Given the description of an element on the screen output the (x, y) to click on. 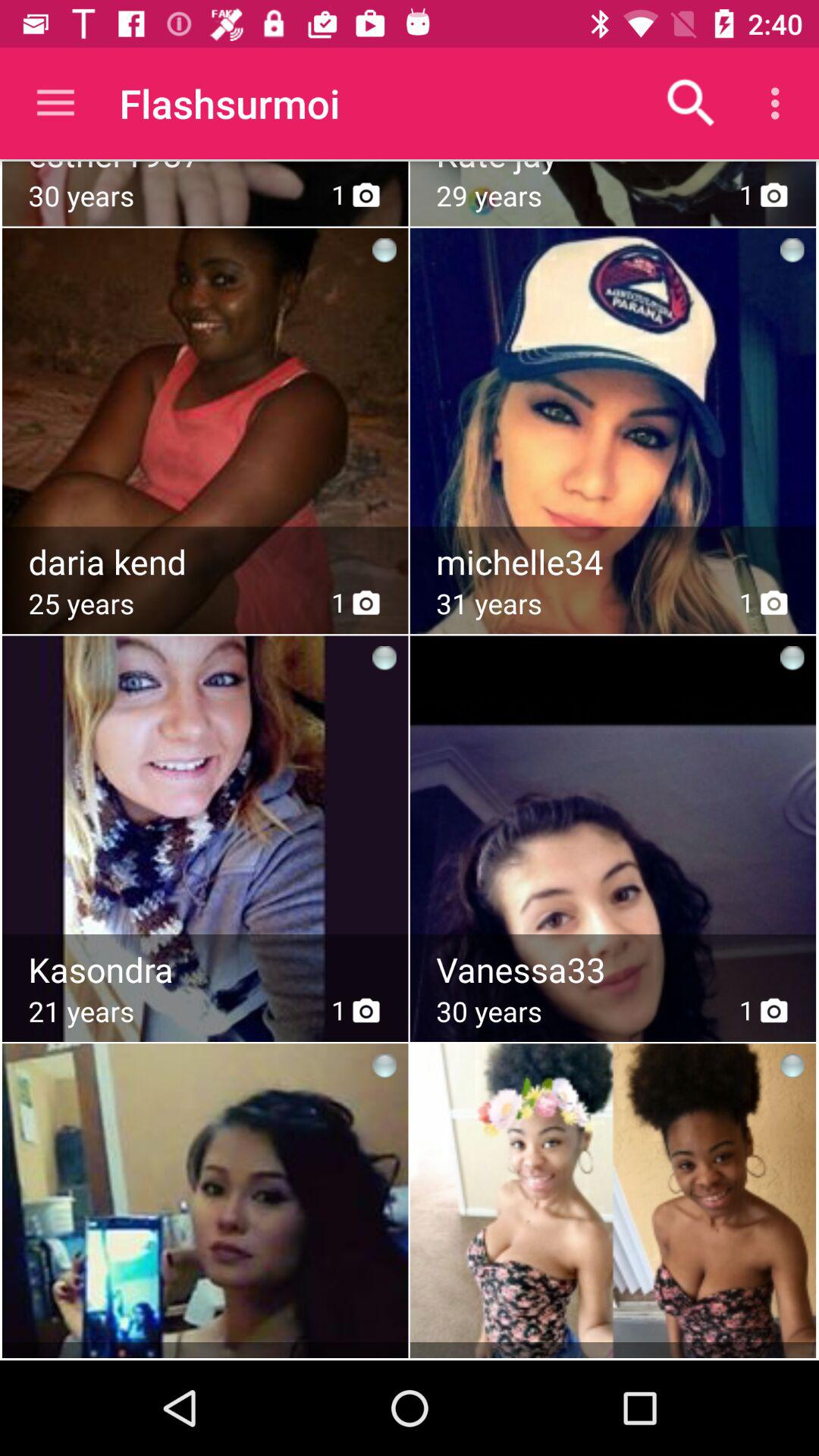
select to view profile (614, 801)
